Given the description of an element on the screen output the (x, y) to click on. 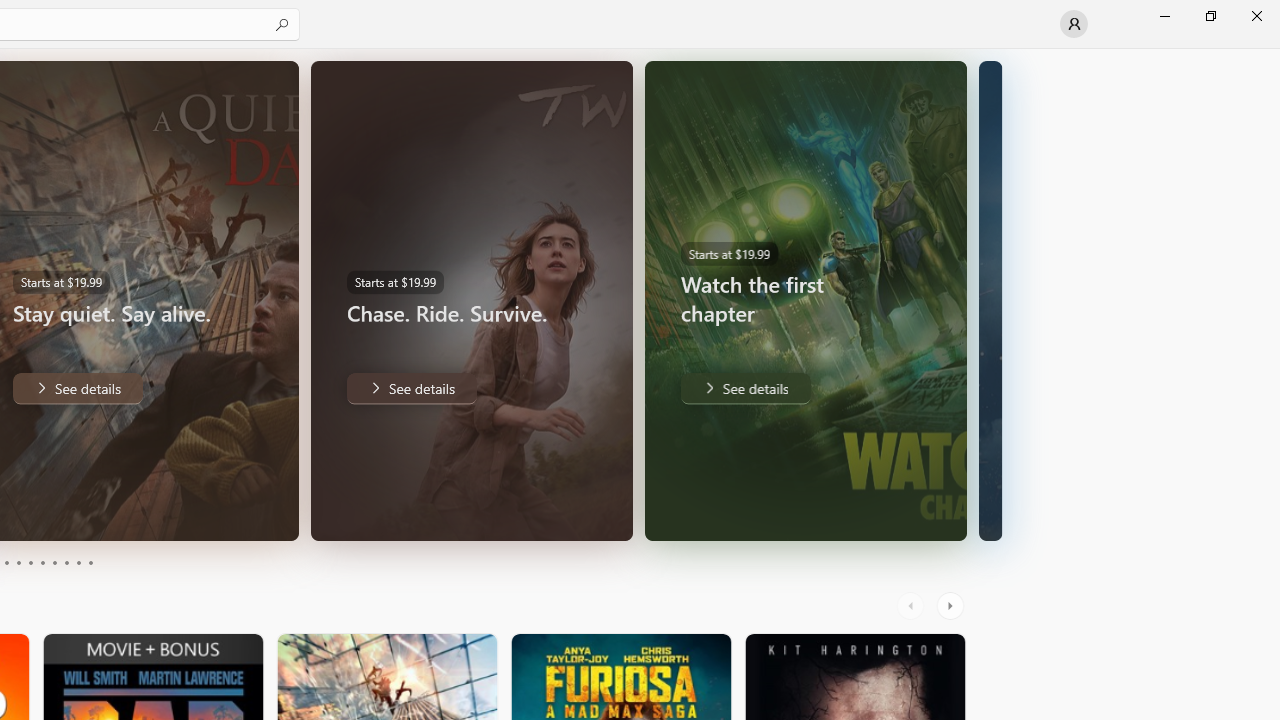
Page 7 (54, 562)
AutomationID: RightScrollButton (952, 606)
Page 3 (5, 562)
AutomationID: LeftScrollButton (913, 606)
AutomationID: Image (989, 300)
Page 5 (29, 562)
Page 4 (17, 562)
Page 6 (41, 562)
Page 10 (90, 562)
